Given the description of an element on the screen output the (x, y) to click on. 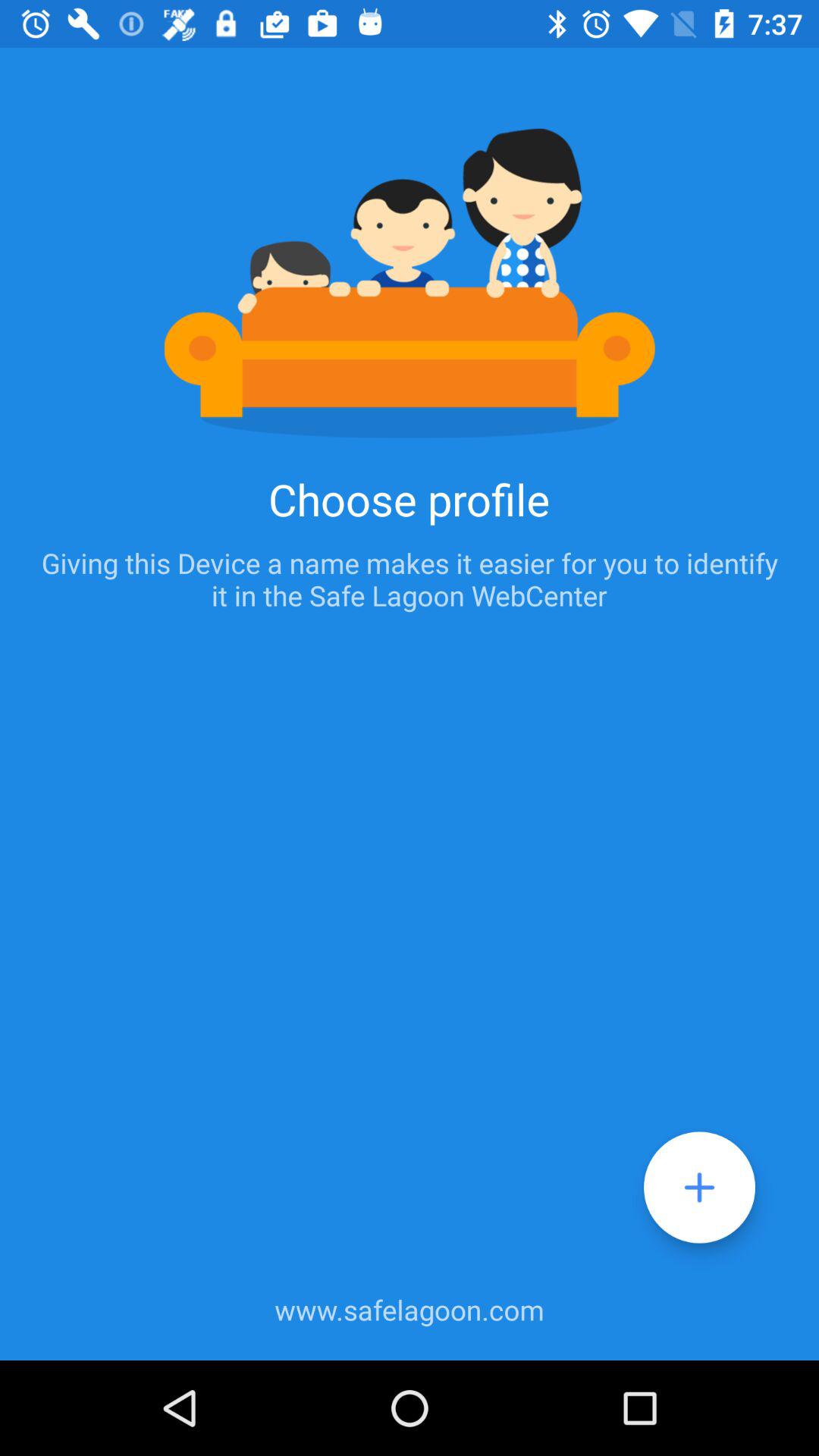
choose item at the bottom right corner (699, 1187)
